Given the description of an element on the screen output the (x, y) to click on. 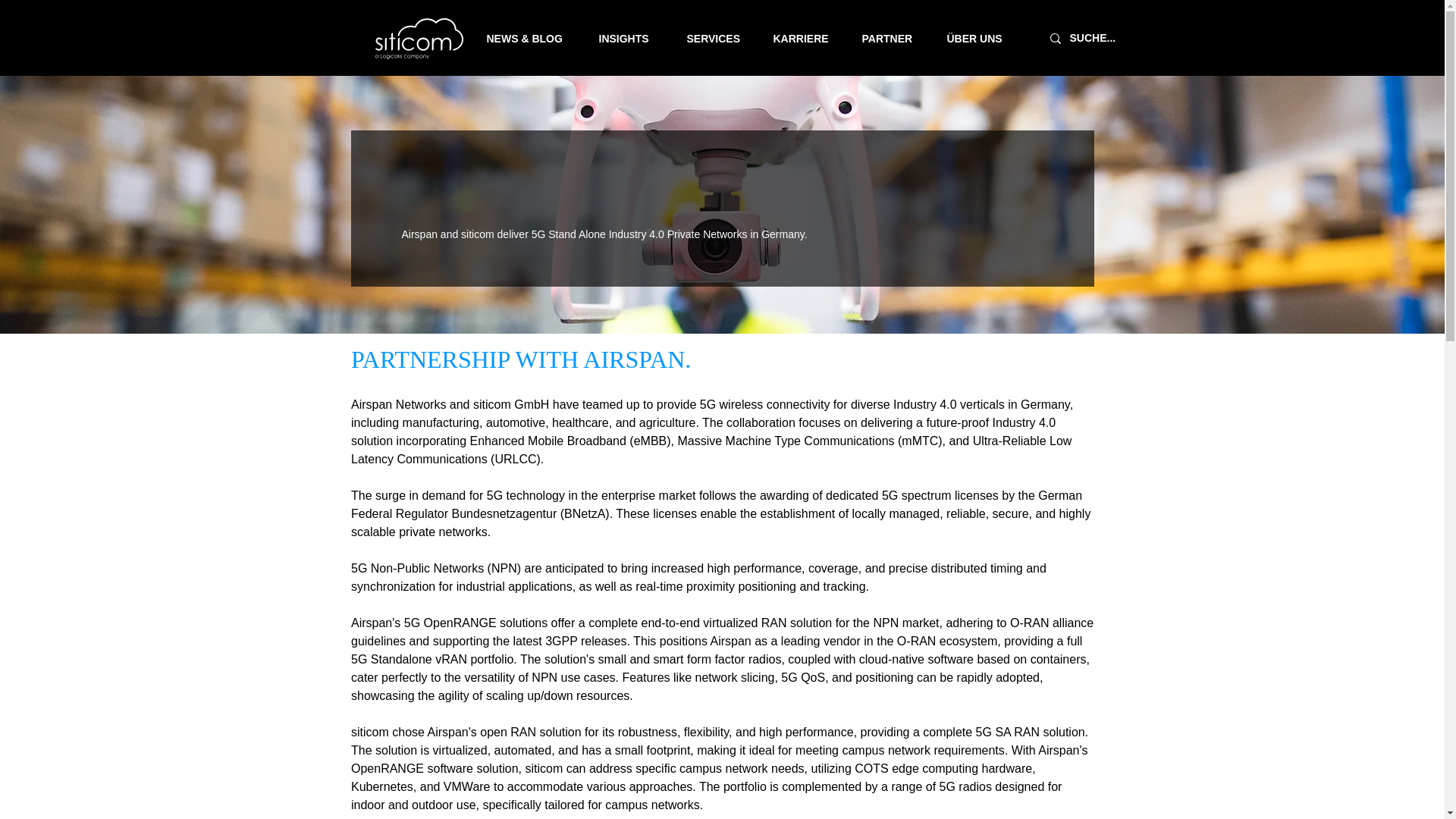
INSIGHTS (635, 38)
PARTNER (896, 38)
KARRIERE (809, 38)
